Given the description of an element on the screen output the (x, y) to click on. 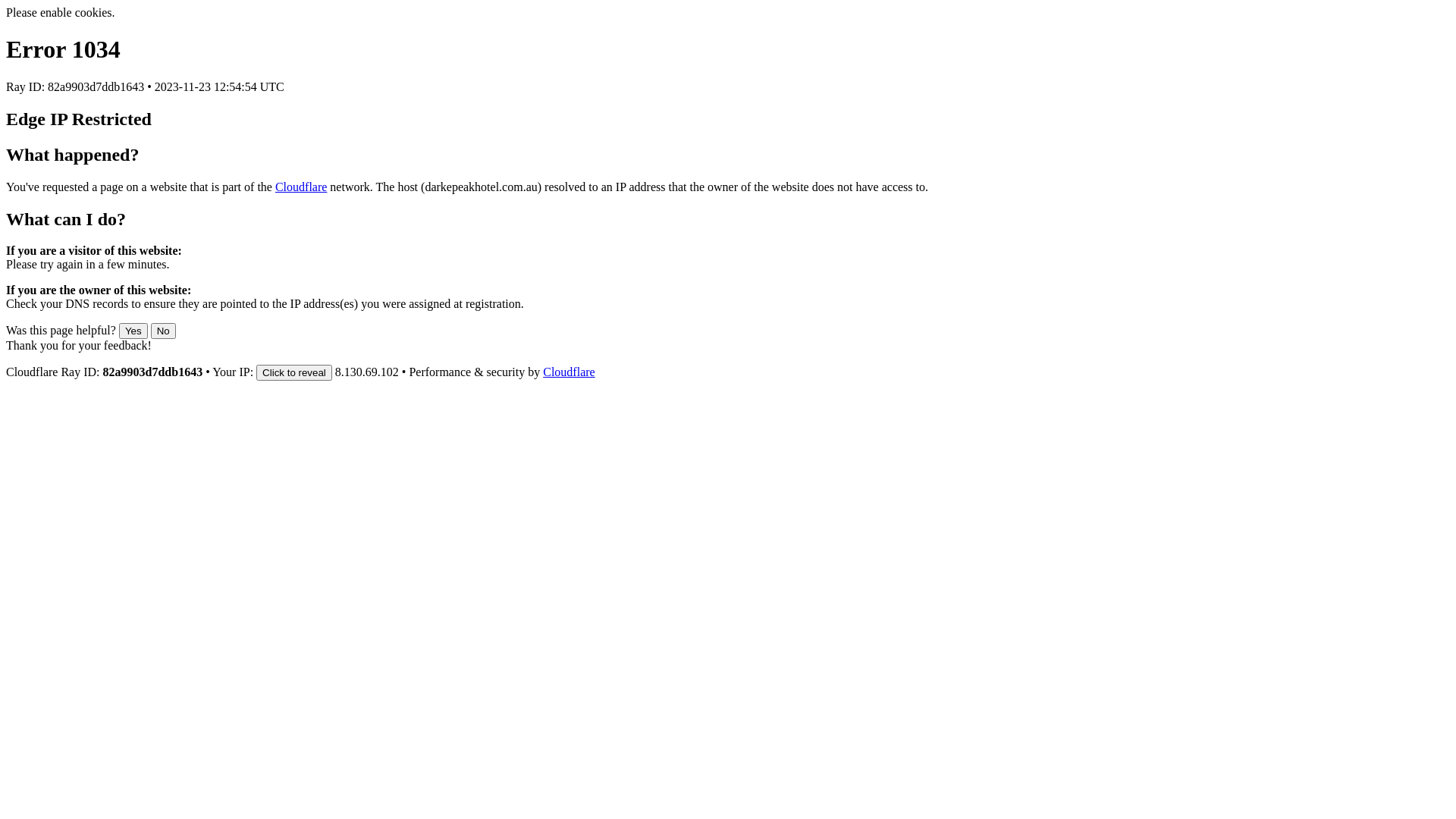
Cloudflare Element type: text (300, 186)
Yes Element type: text (133, 330)
Cloudflare Element type: text (568, 371)
No Element type: text (162, 330)
Click to reveal Element type: text (294, 372)
